Given the description of an element on the screen output the (x, y) to click on. 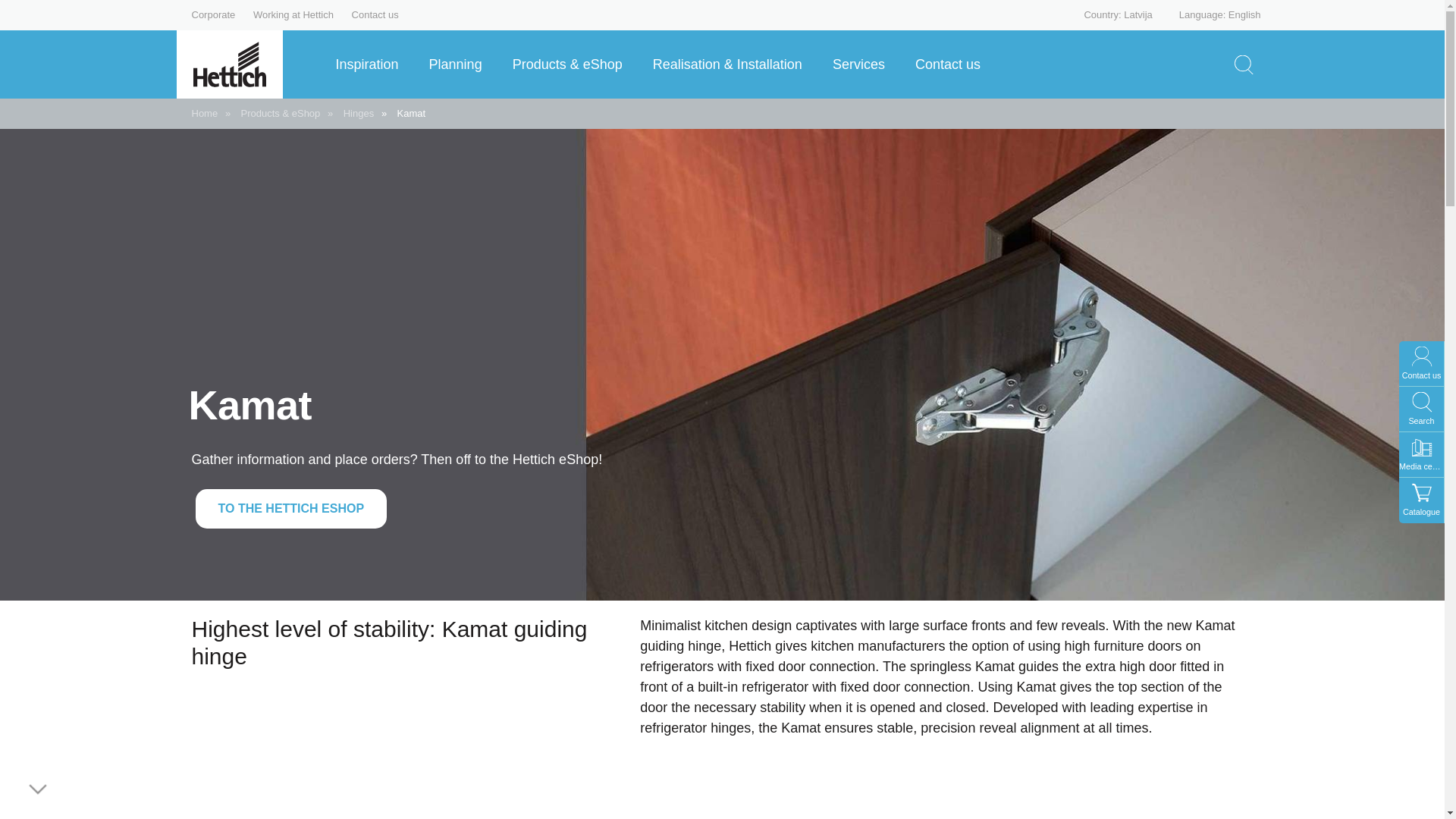
Contact us (375, 14)
Planning (461, 64)
Country: Latvija (1107, 14)
Working at Hettich (293, 14)
Inspiration (371, 64)
Corporate (212, 14)
